Given the description of an element on the screen output the (x, y) to click on. 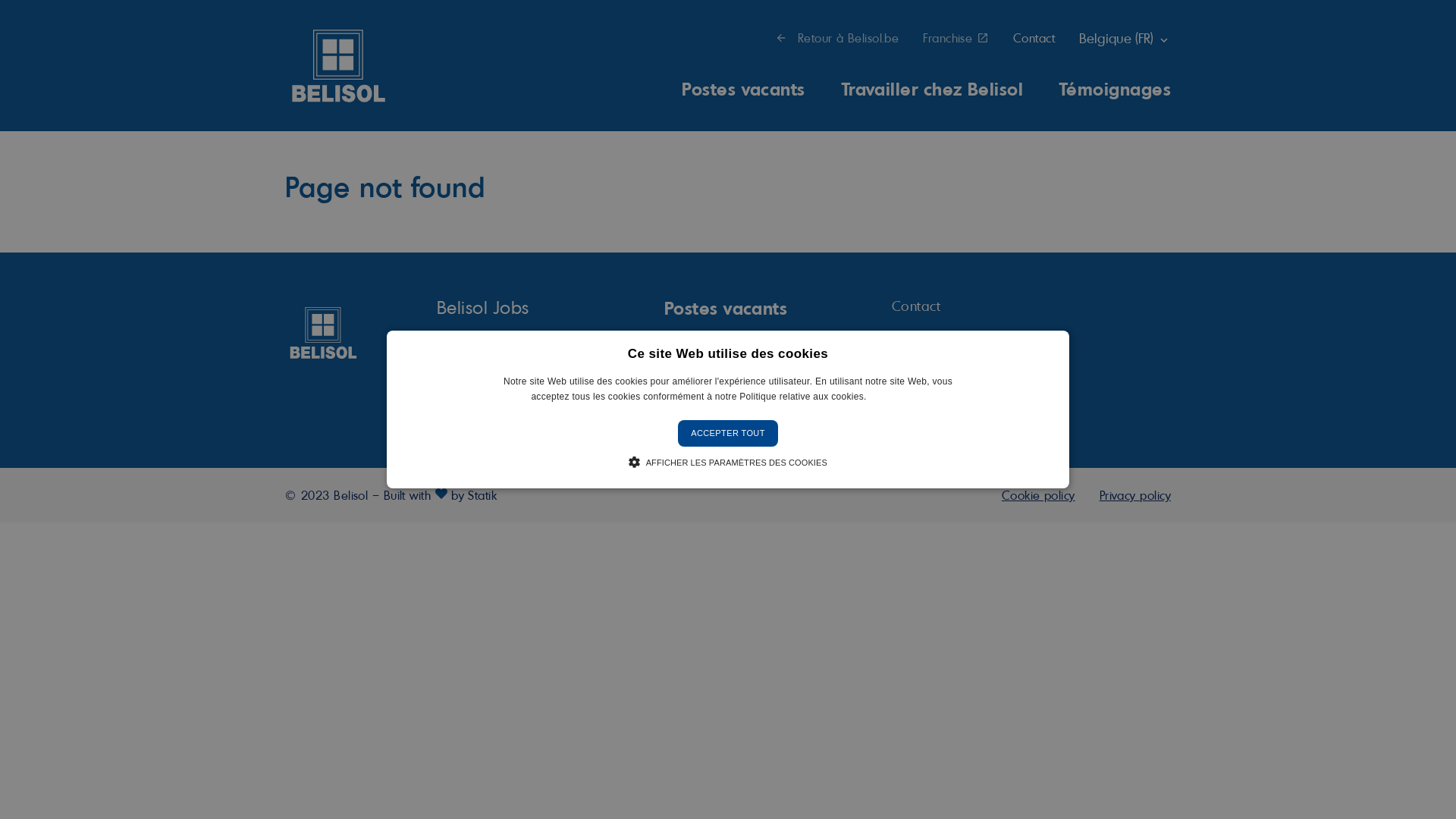
Postes vacants Element type: text (742, 87)
Facebook Element type: text (445, 376)
Contact Element type: text (1033, 37)
LinkedIn Element type: text (502, 376)
En savoir plus Element type: text (896, 396)
Franchise Element type: text (955, 37)
Instagram Element type: text (473, 376)
Privacy policy Element type: text (1134, 494)
Travailler chez Belisol Element type: text (931, 87)
Travailler chez Belisol Element type: text (754, 343)
Statik Element type: text (481, 494)
Belgique (FR) Element type: text (1124, 37)
Franchise Element type: text (924, 396)
Postes vacants Element type: text (725, 306)
Belgique (FR) Element type: text (937, 362)
Cookie policy Element type: text (1038, 494)
Contact Element type: text (915, 305)
jobs@belisol.com Element type: text (490, 335)
